Given the description of an element on the screen output the (x, y) to click on. 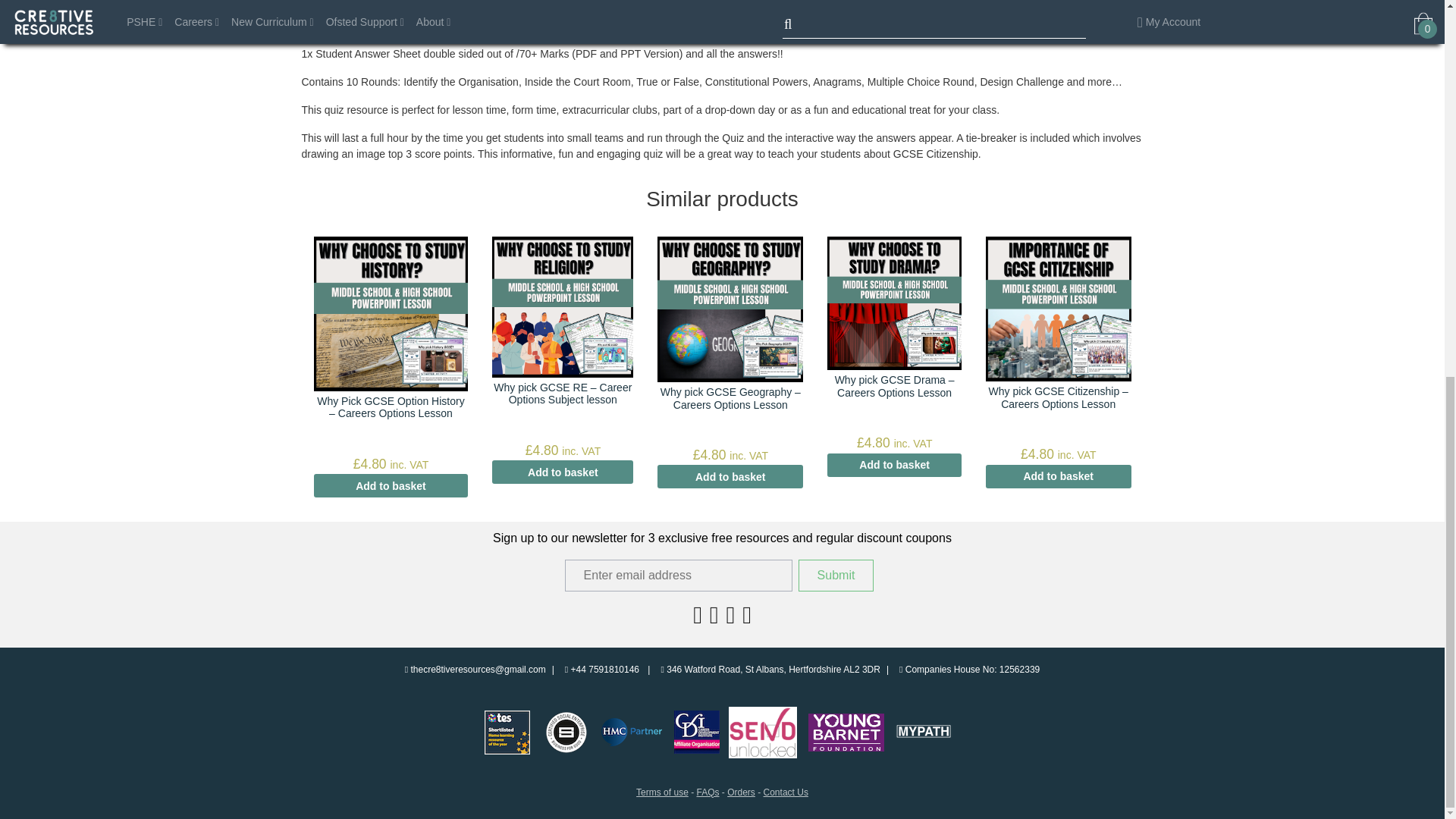
Submit (836, 575)
